Given the description of an element on the screen output the (x, y) to click on. 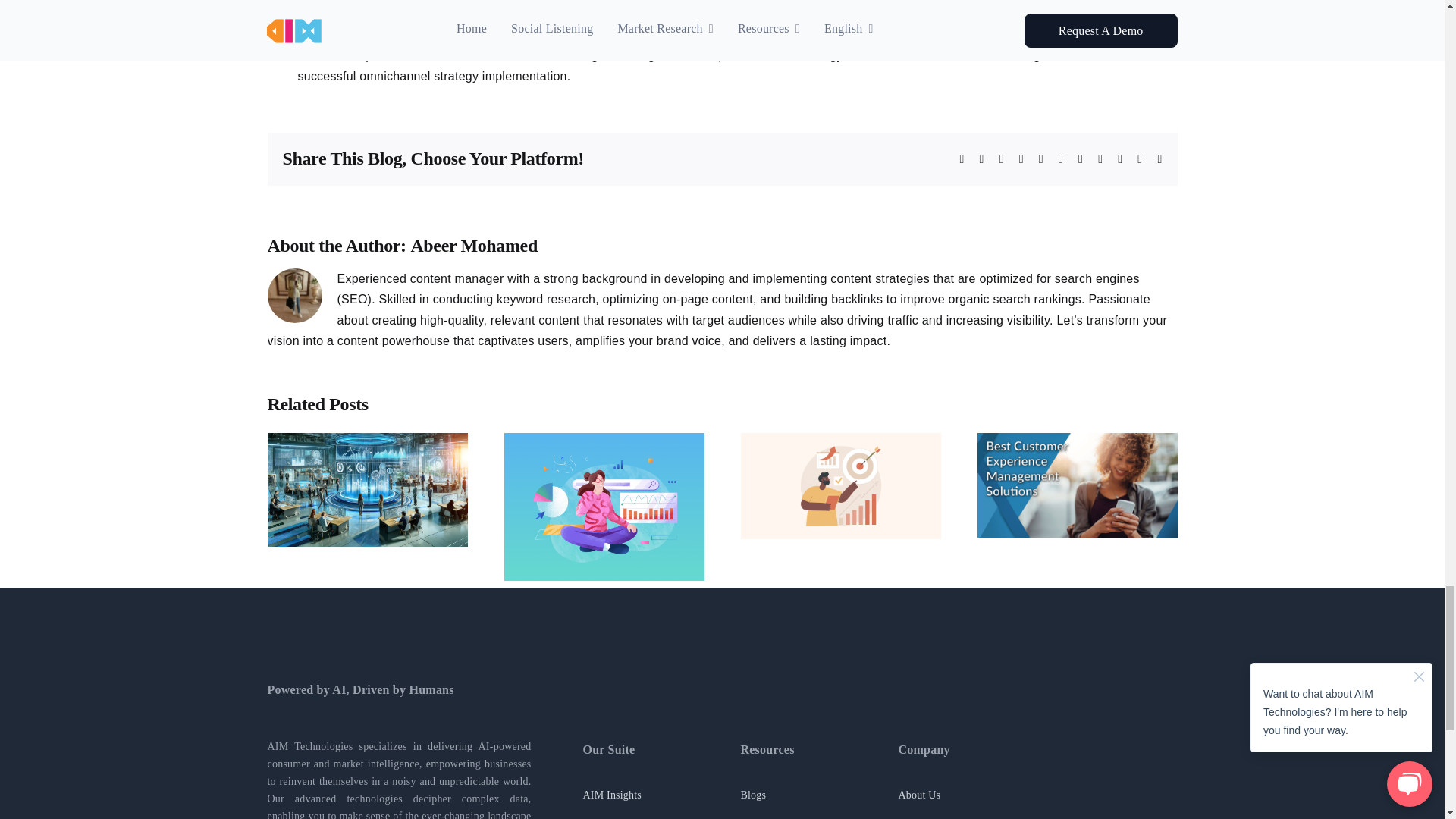
Posts by Abeer Mohamed (473, 245)
